Given the description of an element on the screen output the (x, y) to click on. 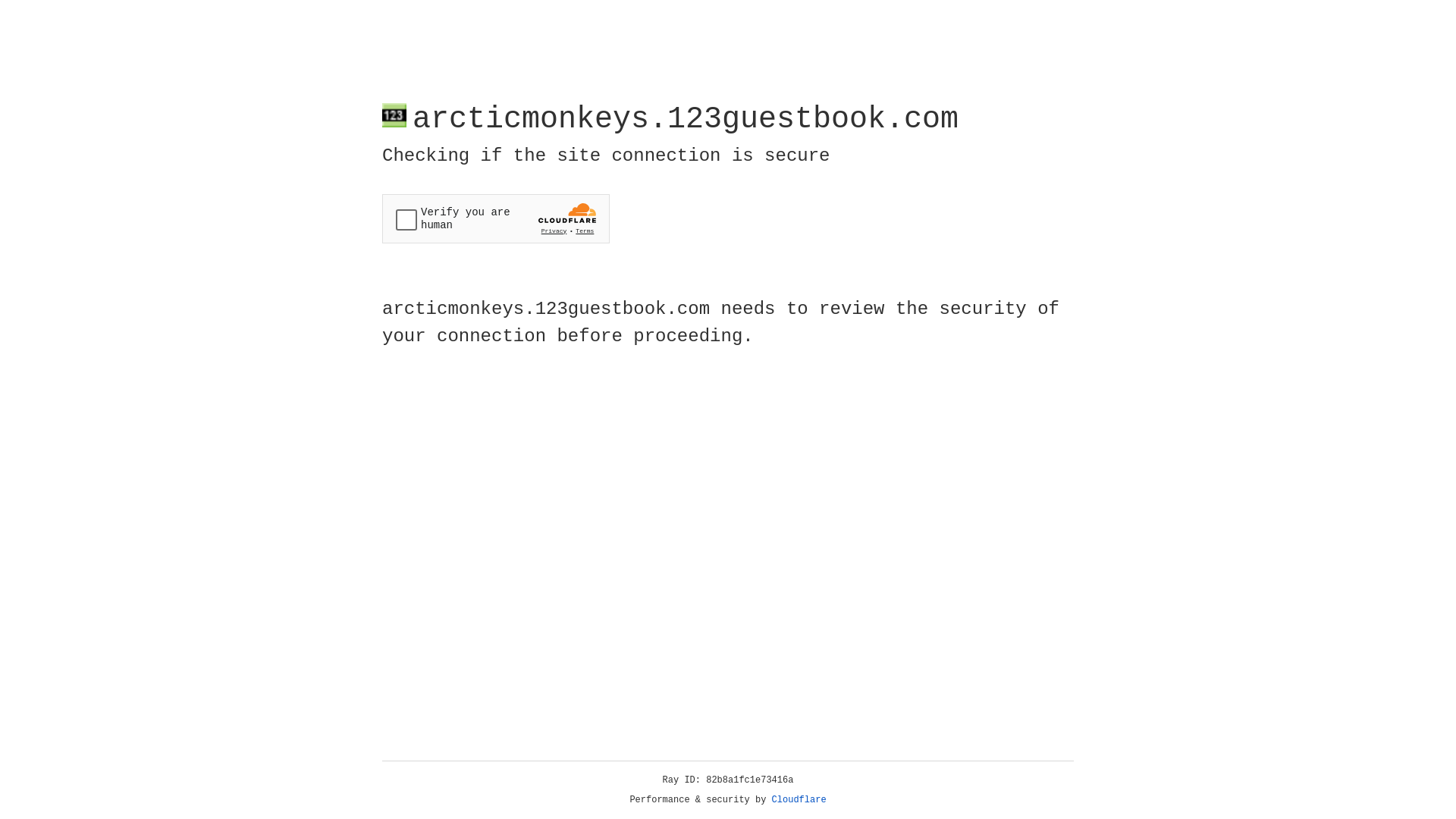
Widget containing a Cloudflare security challenge Element type: hover (495, 218)
Cloudflare Element type: text (798, 799)
